Given the description of an element on the screen output the (x, y) to click on. 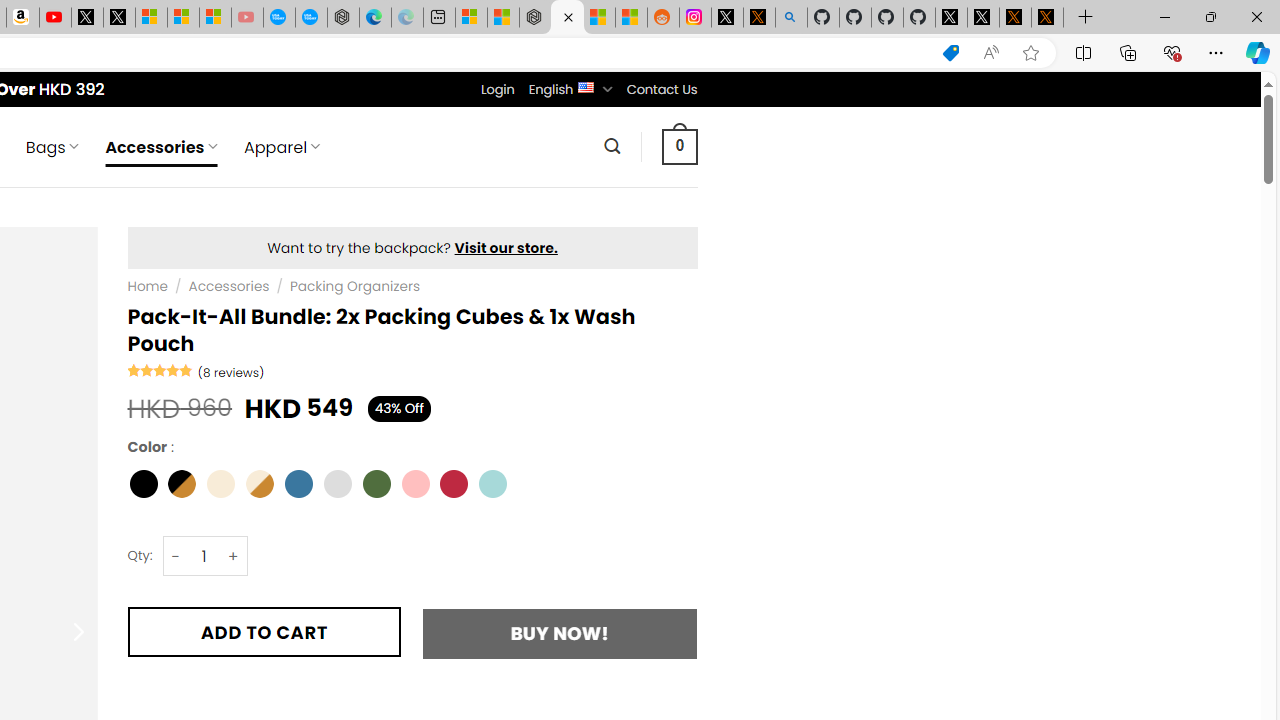
Visit our store. (506, 247)
This site has coupons! Shopping in Microsoft Edge (950, 53)
English (586, 86)
